Given the description of an element on the screen output the (x, y) to click on. 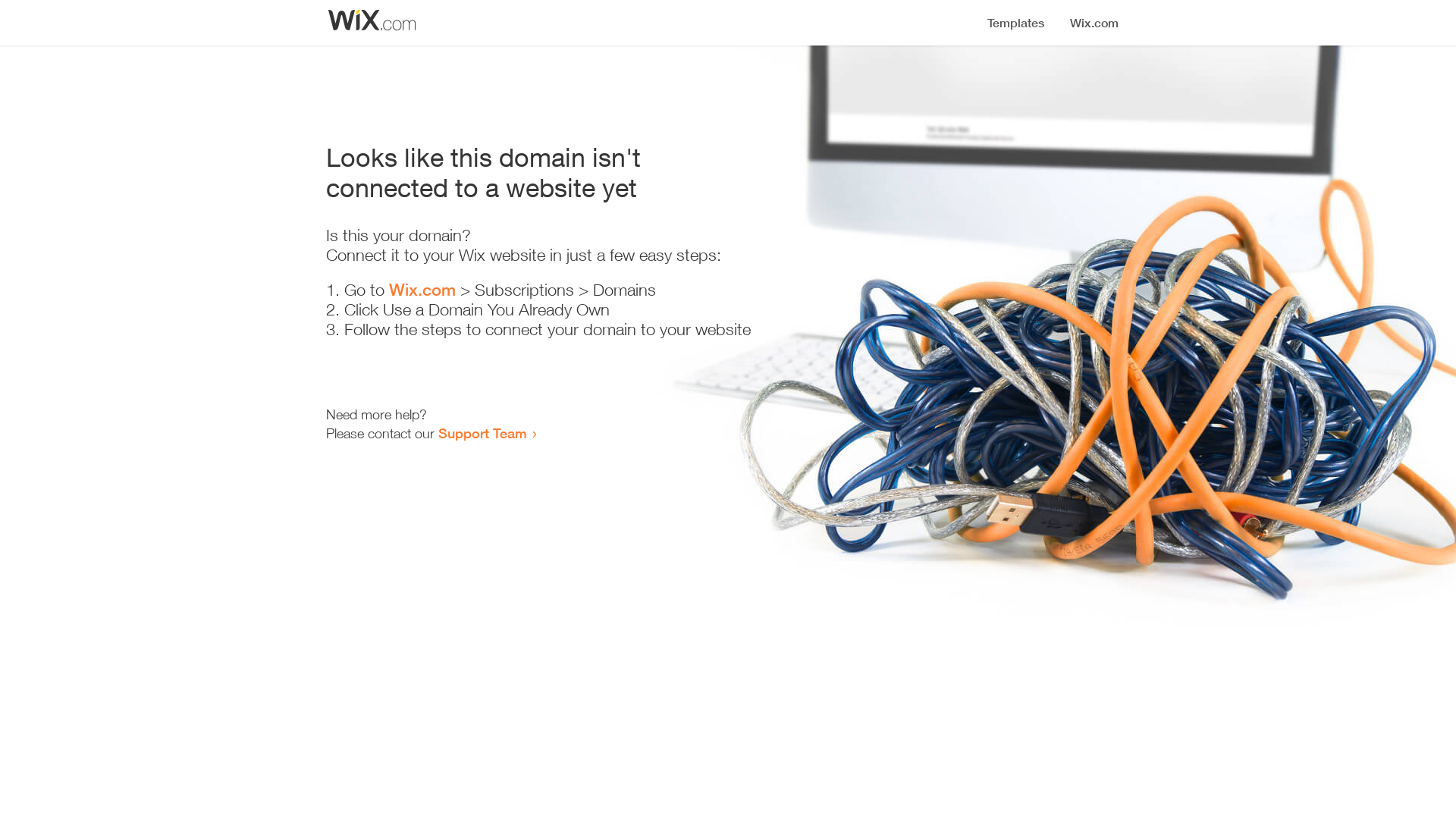
Wix.com Element type: text (422, 289)
Support Team Element type: text (482, 432)
